Given the description of an element on the screen output the (x, y) to click on. 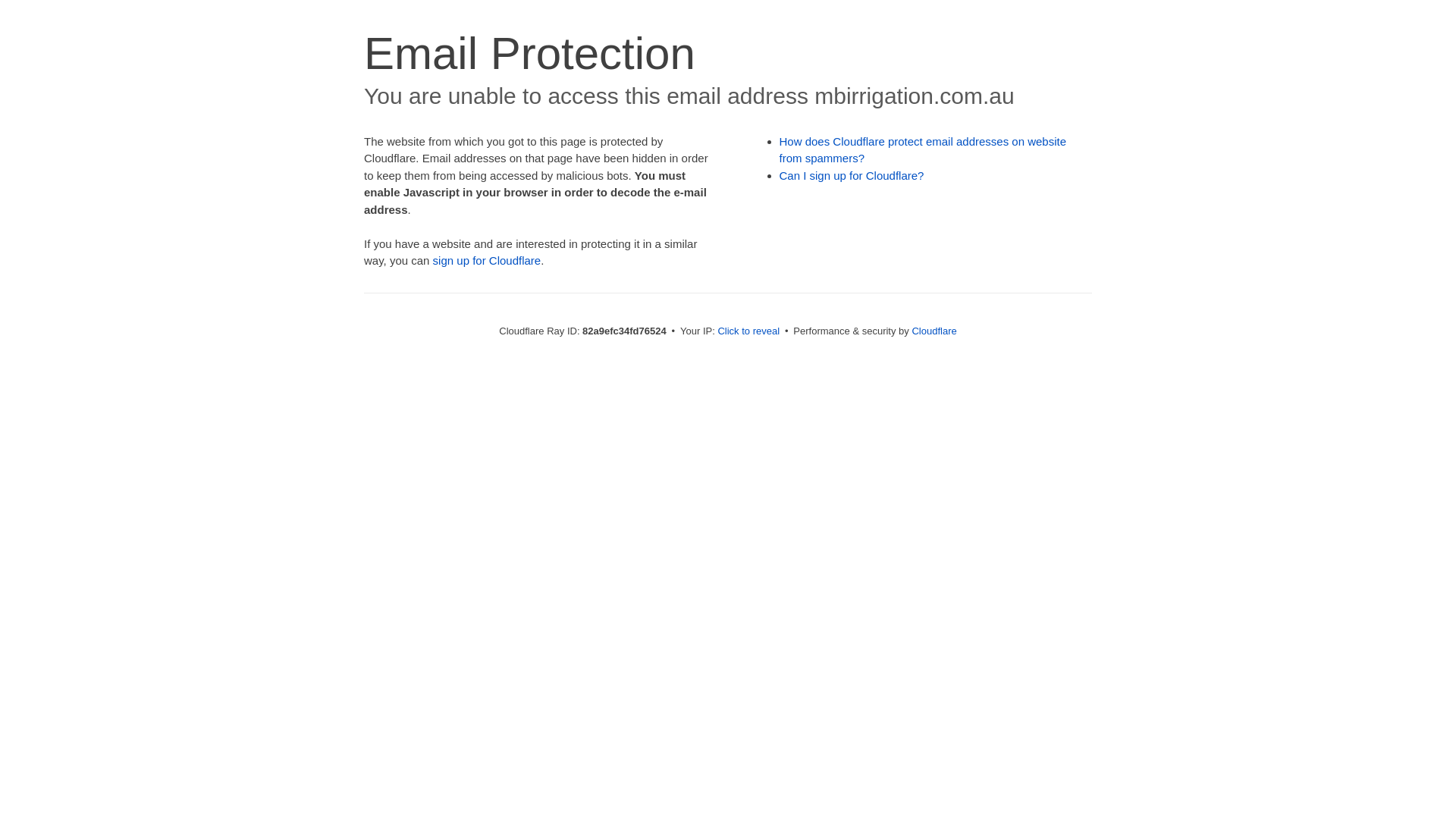
Can I sign up for Cloudflare? Element type: text (851, 175)
Cloudflare Element type: text (933, 330)
Click to reveal Element type: text (748, 330)
sign up for Cloudflare Element type: text (487, 260)
